Given the description of an element on the screen output the (x, y) to click on. 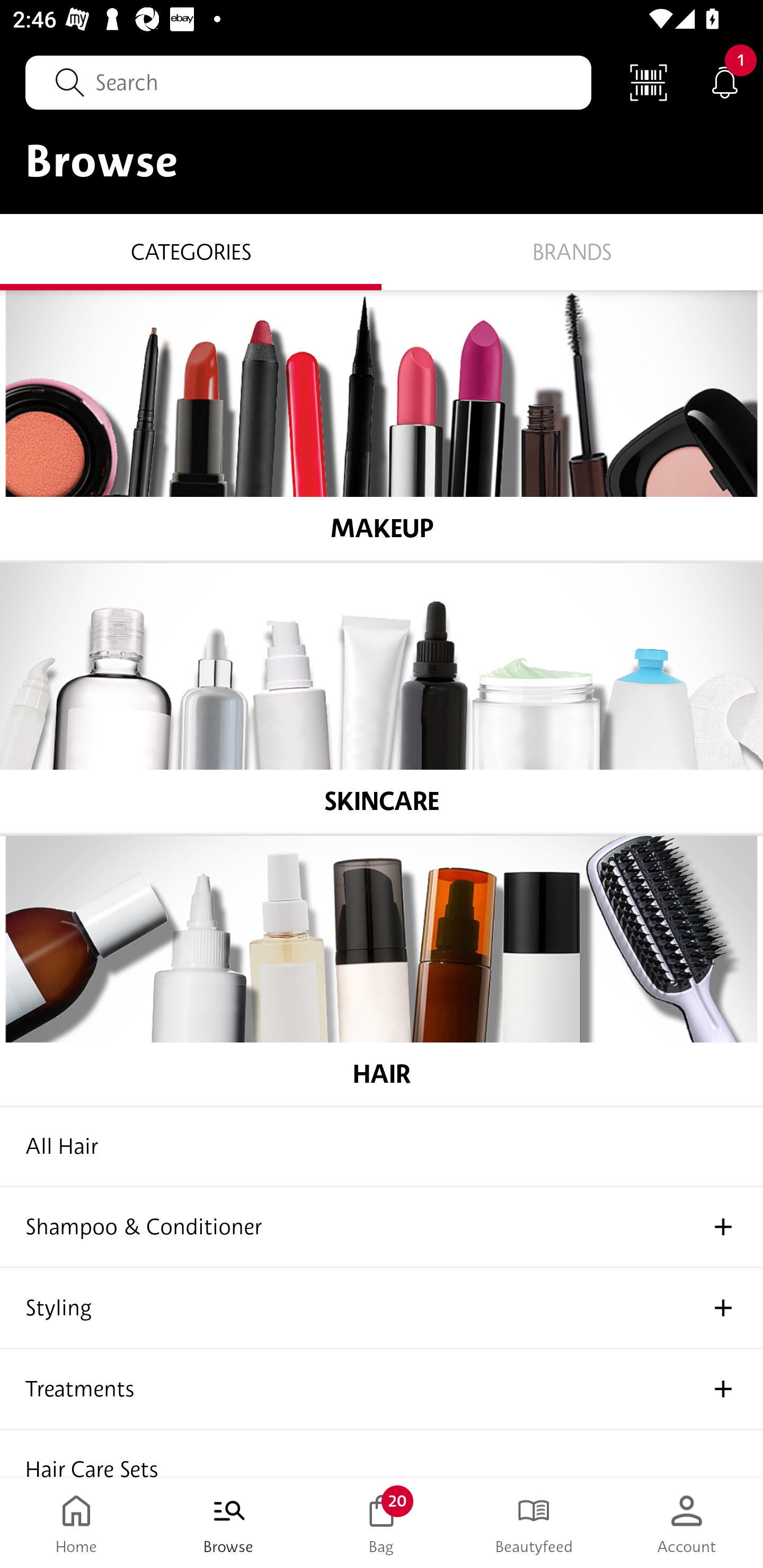
Scan Code (648, 81)
Notifications (724, 81)
Search (308, 81)
Brands BRANDS (572, 251)
MAKEUP (381, 425)
SKINCARE (381, 698)
All Hair (381, 1146)
Shampoo & Conditioner (381, 1227)
Styling (381, 1308)
Treatments (381, 1389)
Hair Care Sets (381, 1454)
Home (76, 1523)
Bag 20 Bag (381, 1523)
Beautyfeed (533, 1523)
Account (686, 1523)
